Given the description of an element on the screen output the (x, y) to click on. 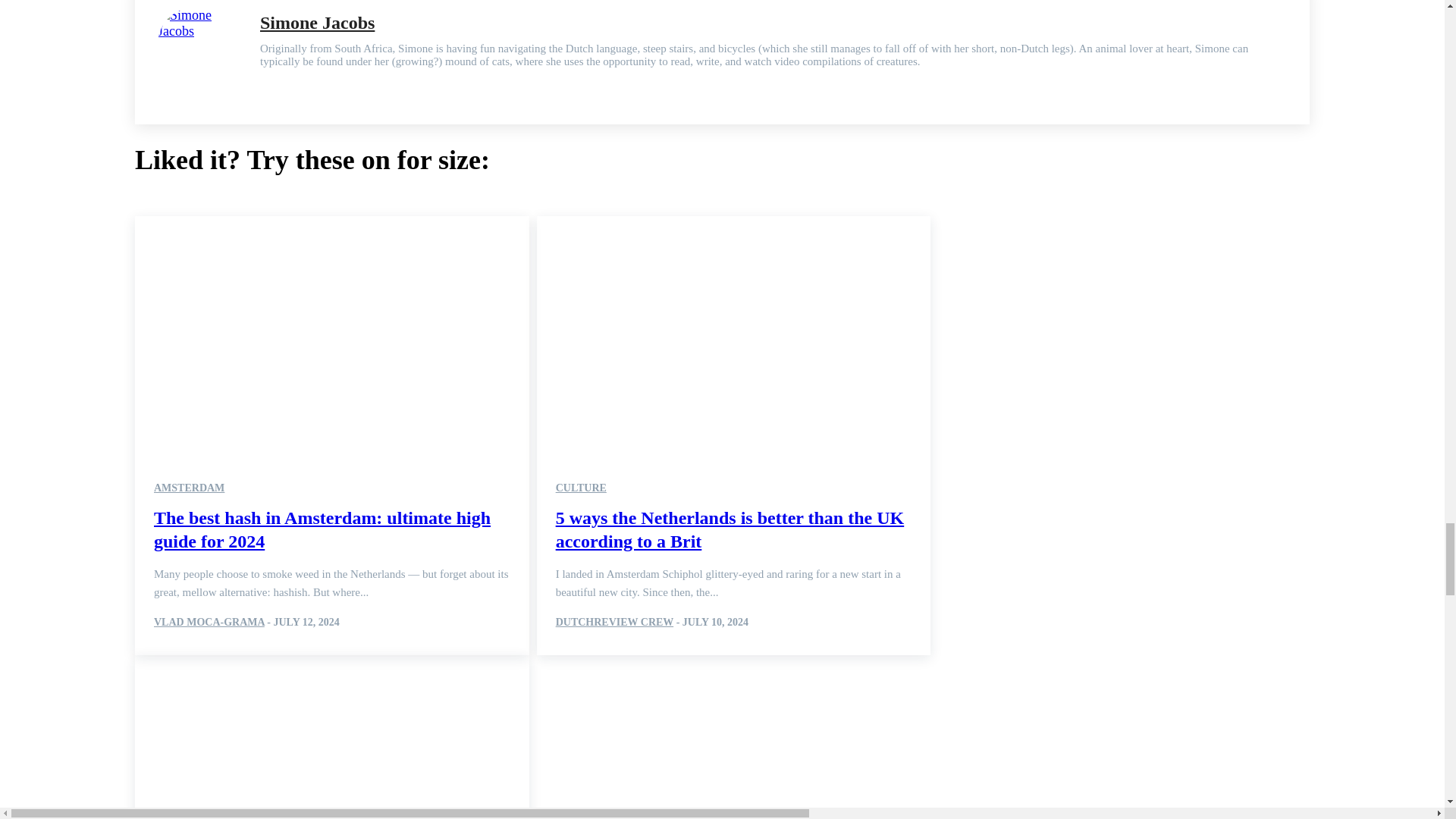
Simone Jacobs (200, 54)
The best hash in Amsterdam: ultimate high guide for 2024 (322, 529)
Linkedin (265, 84)
The best hash in Amsterdam: ultimate high guide for 2024 (332, 334)
